Given the description of an element on the screen output the (x, y) to click on. 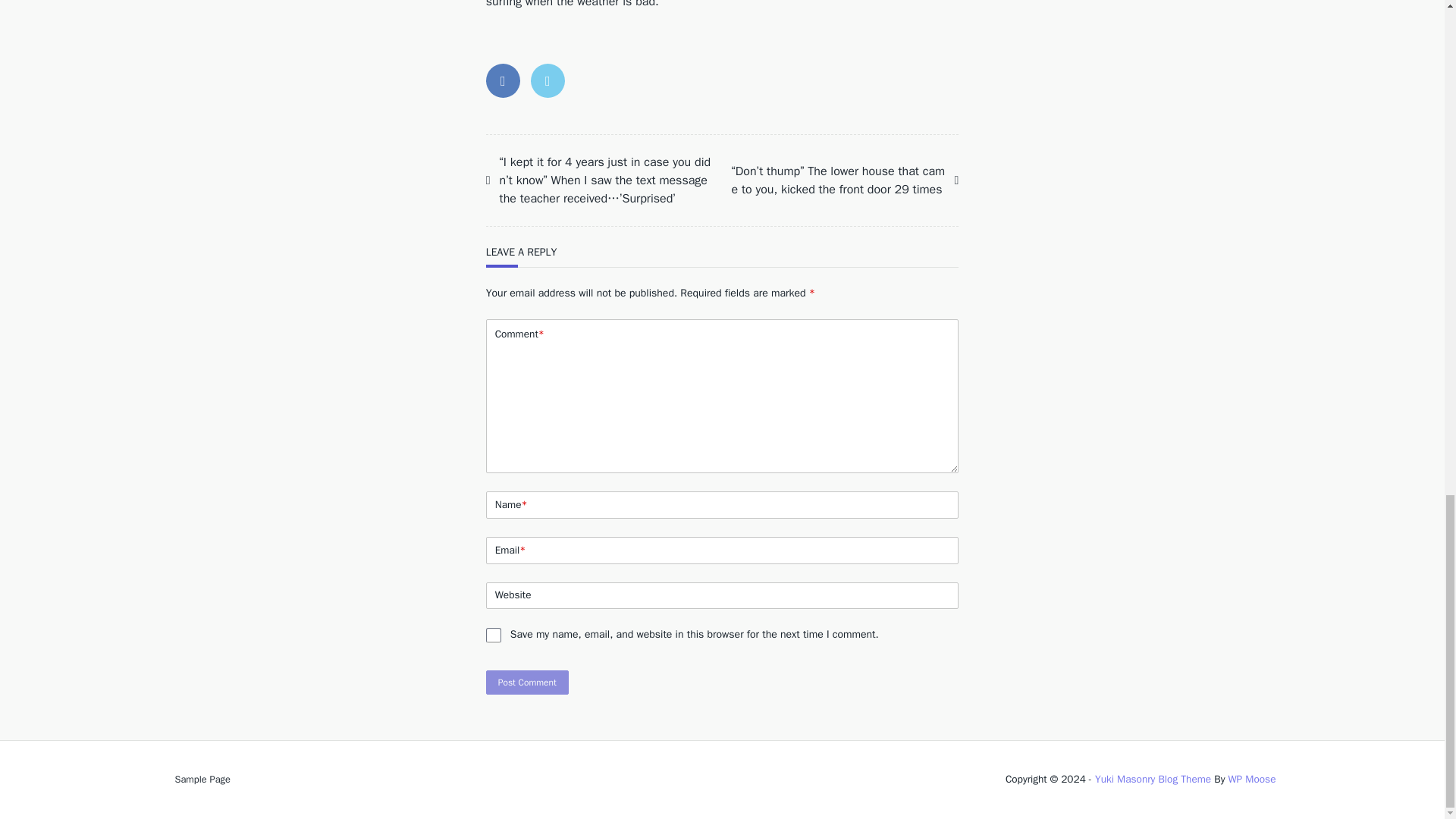
Sample Page (201, 778)
Post Comment (527, 682)
yes (493, 635)
Post Comment (527, 682)
WP Moose (1251, 779)
Yuki Masonry Blog Theme (1152, 779)
